Given the description of an element on the screen output the (x, y) to click on. 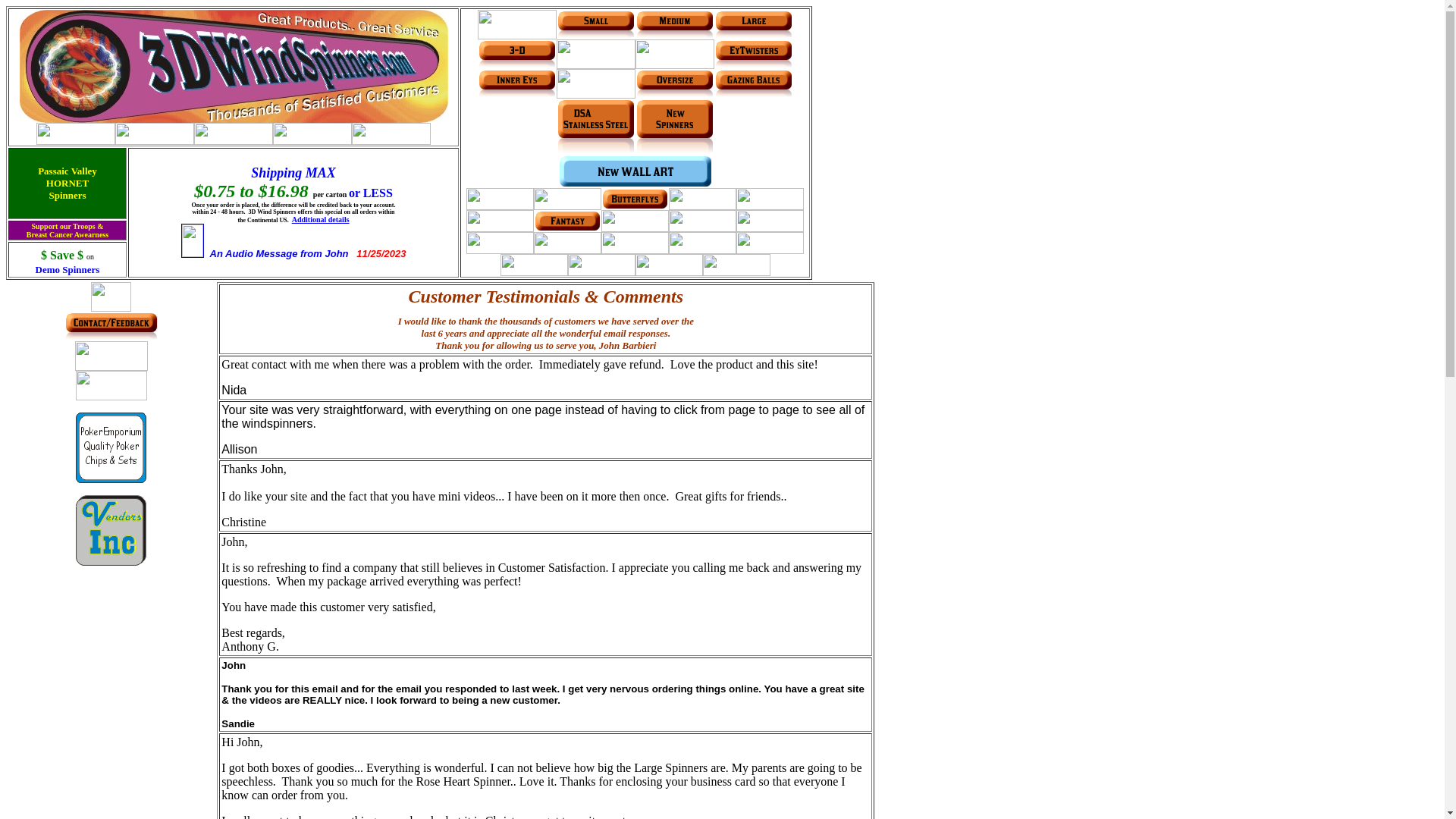
Support our Troops &
Breast Cancer Awearness Element type: text (67, 228)
Passaic Valley
HORNET
Spinners Element type: text (67, 181)
Additional details Element type: text (320, 219)
An Audio Message from John Element type: text (279, 253)
Demo Spinners Element type: text (67, 268)
